Given the description of an element on the screen output the (x, y) to click on. 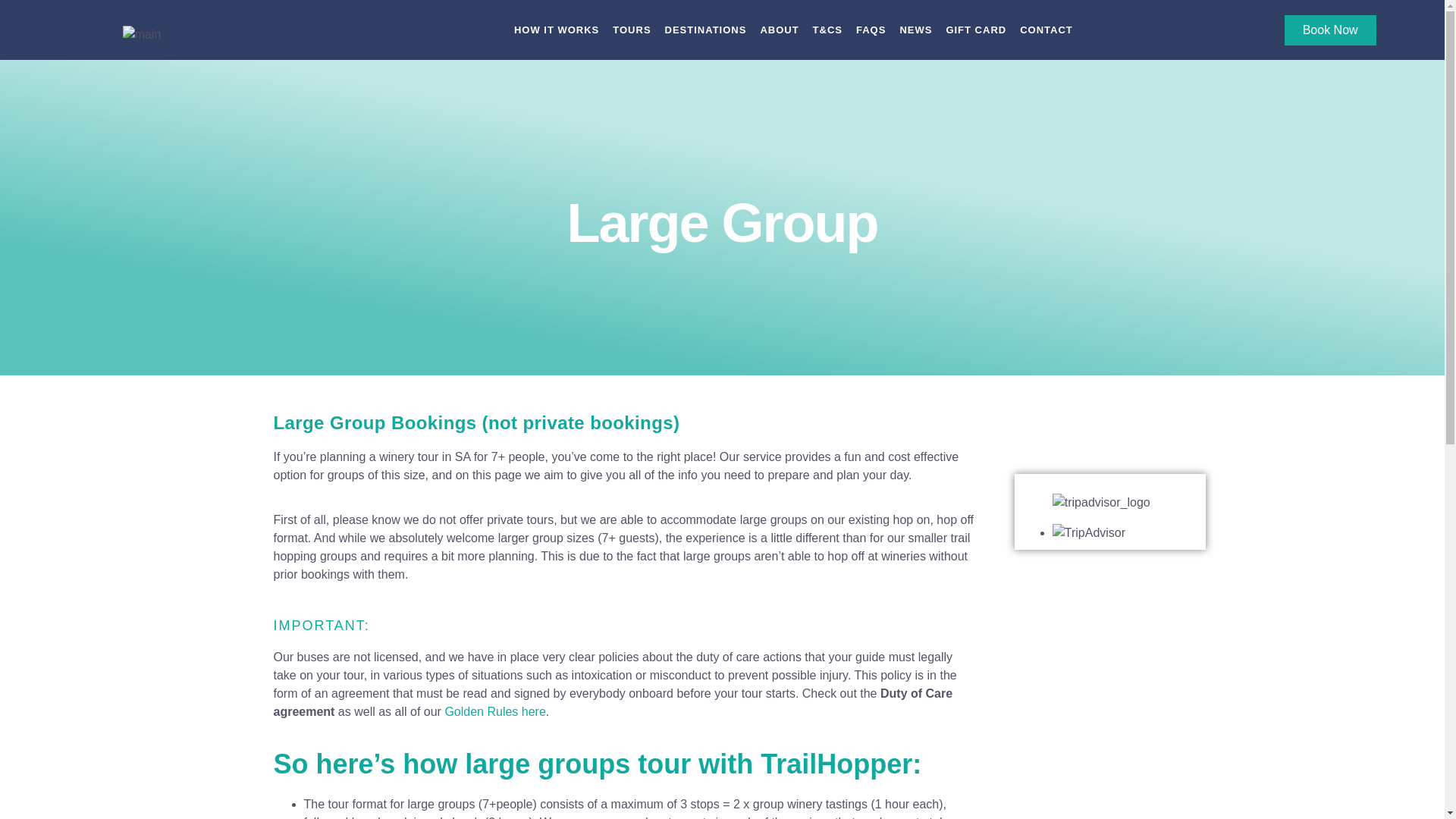
ABOUT (778, 29)
GIFT CARD (975, 29)
DESTINATIONS (705, 29)
NEWS (915, 29)
HOW IT WORKS (555, 29)
CONTACT (1046, 29)
TOURS (631, 29)
Book Now (1329, 30)
